Given the description of an element on the screen output the (x, y) to click on. 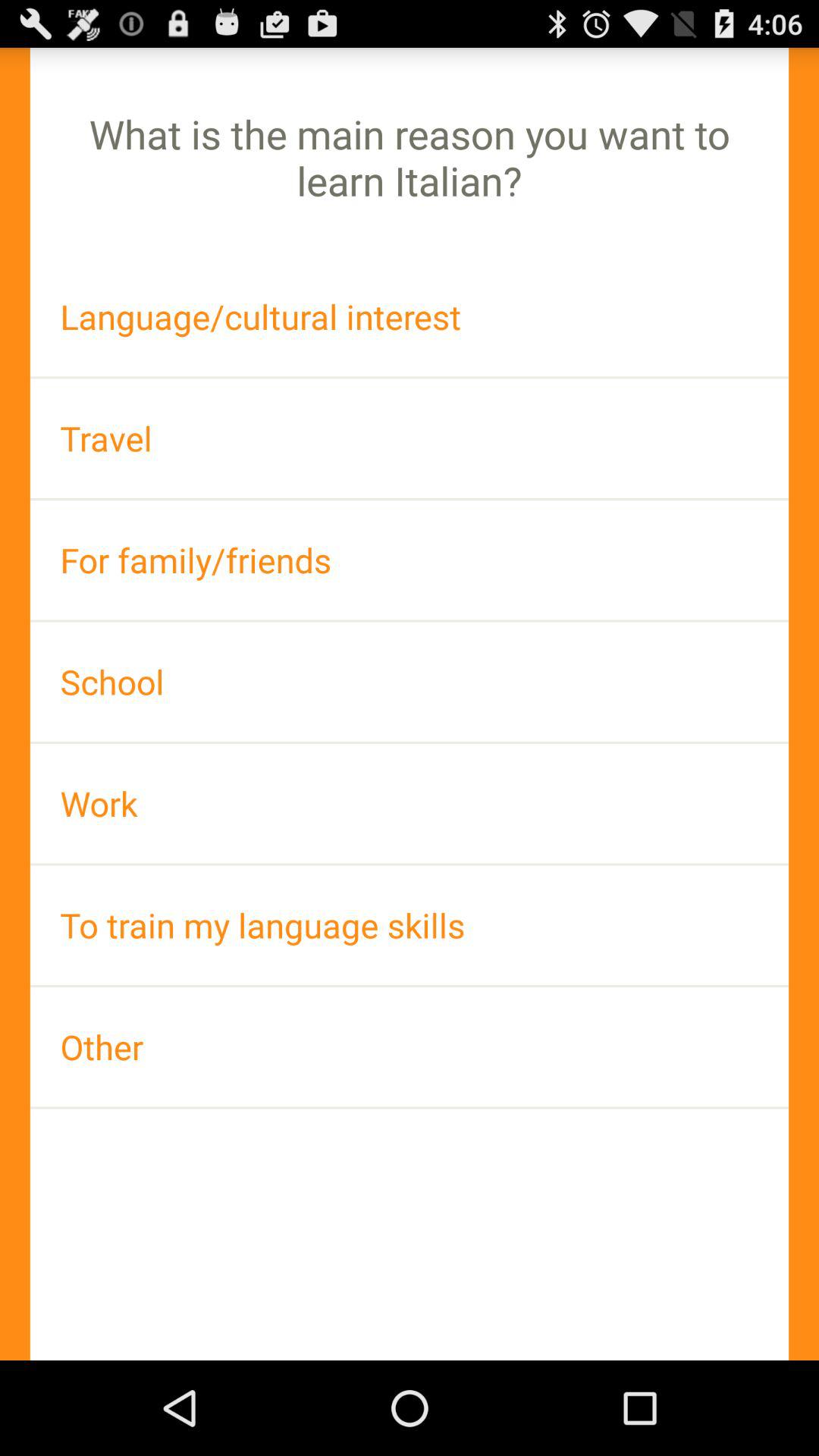
click the other app (409, 1046)
